Given the description of an element on the screen output the (x, y) to click on. 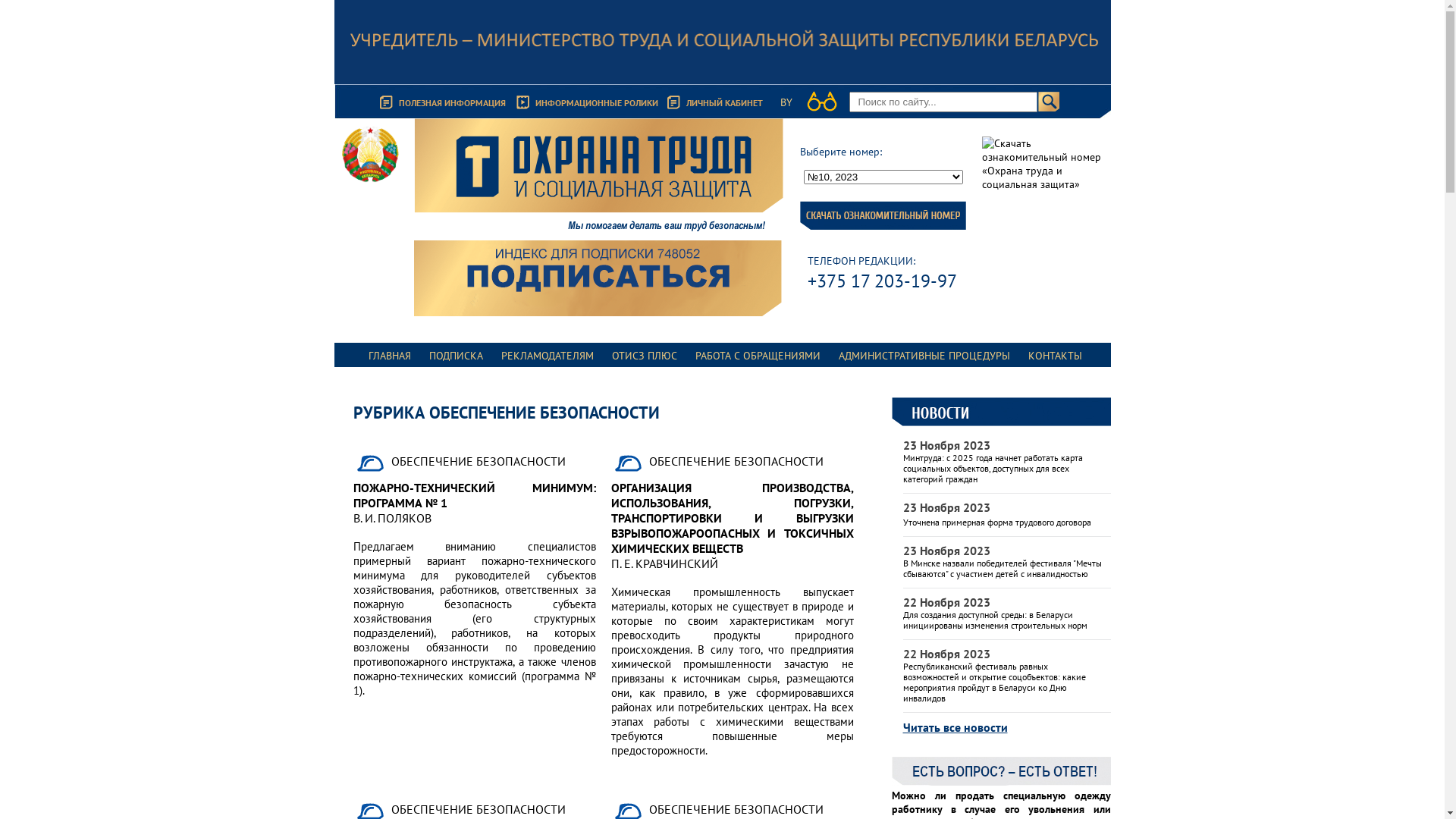
BY Element type: text (785, 102)
